Given the description of an element on the screen output the (x, y) to click on. 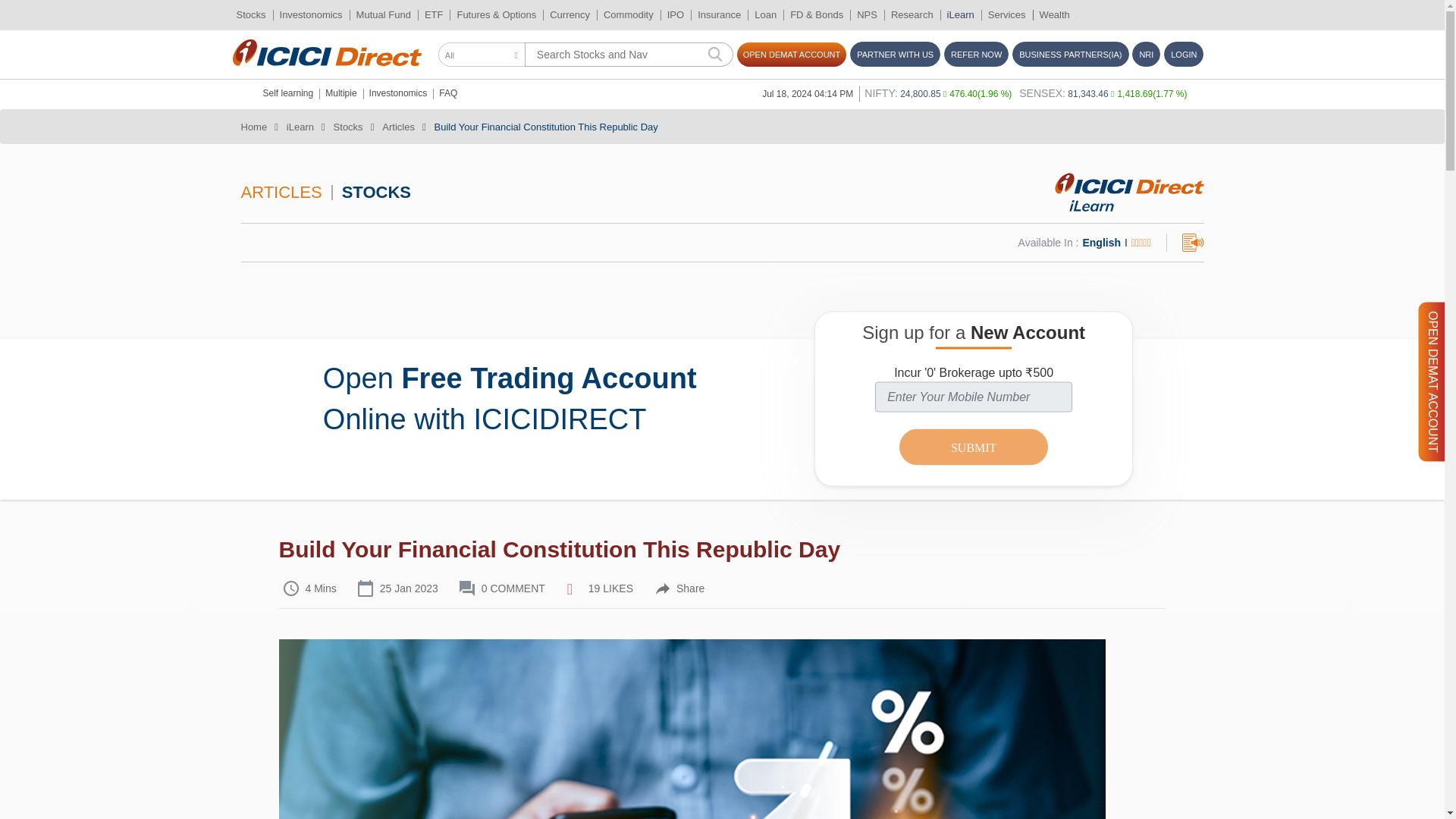
Stocks (250, 15)
ETF (433, 15)
Currency (569, 15)
All (481, 54)
Investonomics (311, 15)
Mutual Fund (383, 15)
